Given the description of an element on the screen output the (x, y) to click on. 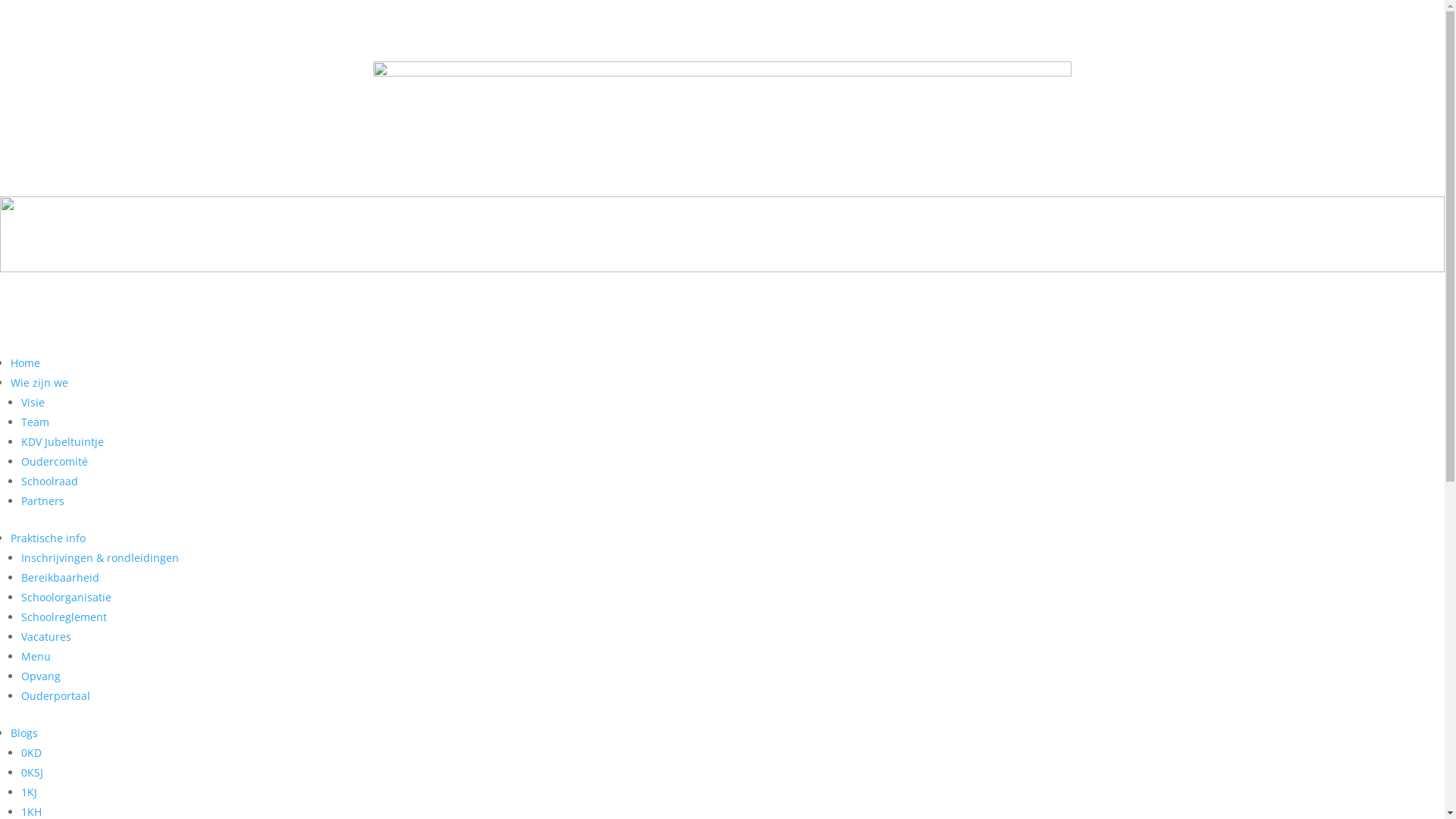
0KSJ Element type: text (32, 772)
Praktische info Element type: text (47, 537)
Visie Element type: text (32, 402)
cropped-BS_AtEtterbeek-logo-kl.png Element type: hover (722, 253)
Inschrijvingen & rondleidingen Element type: text (99, 557)
Bereikbaarheid Element type: text (60, 577)
1KJ Element type: text (29, 791)
Partners Element type: text (42, 500)
Blogs Element type: text (23, 732)
Opvang Element type: text (40, 675)
Schoolorganisatie Element type: text (66, 596)
Home Element type: text (25, 362)
Wie zijn we Element type: text (39, 382)
Schoolreglement Element type: text (63, 616)
Ouderportaal Element type: text (55, 695)
KDV Jubeltuintje Element type: text (62, 441)
Schoolraad Element type: text (49, 480)
0KD Element type: text (31, 752)
Menu Element type: text (35, 656)
Vacatures Element type: text (46, 636)
foto_02 kopie Element type: hover (722, 122)
Team Element type: text (35, 421)
